Given the description of an element on the screen output the (x, y) to click on. 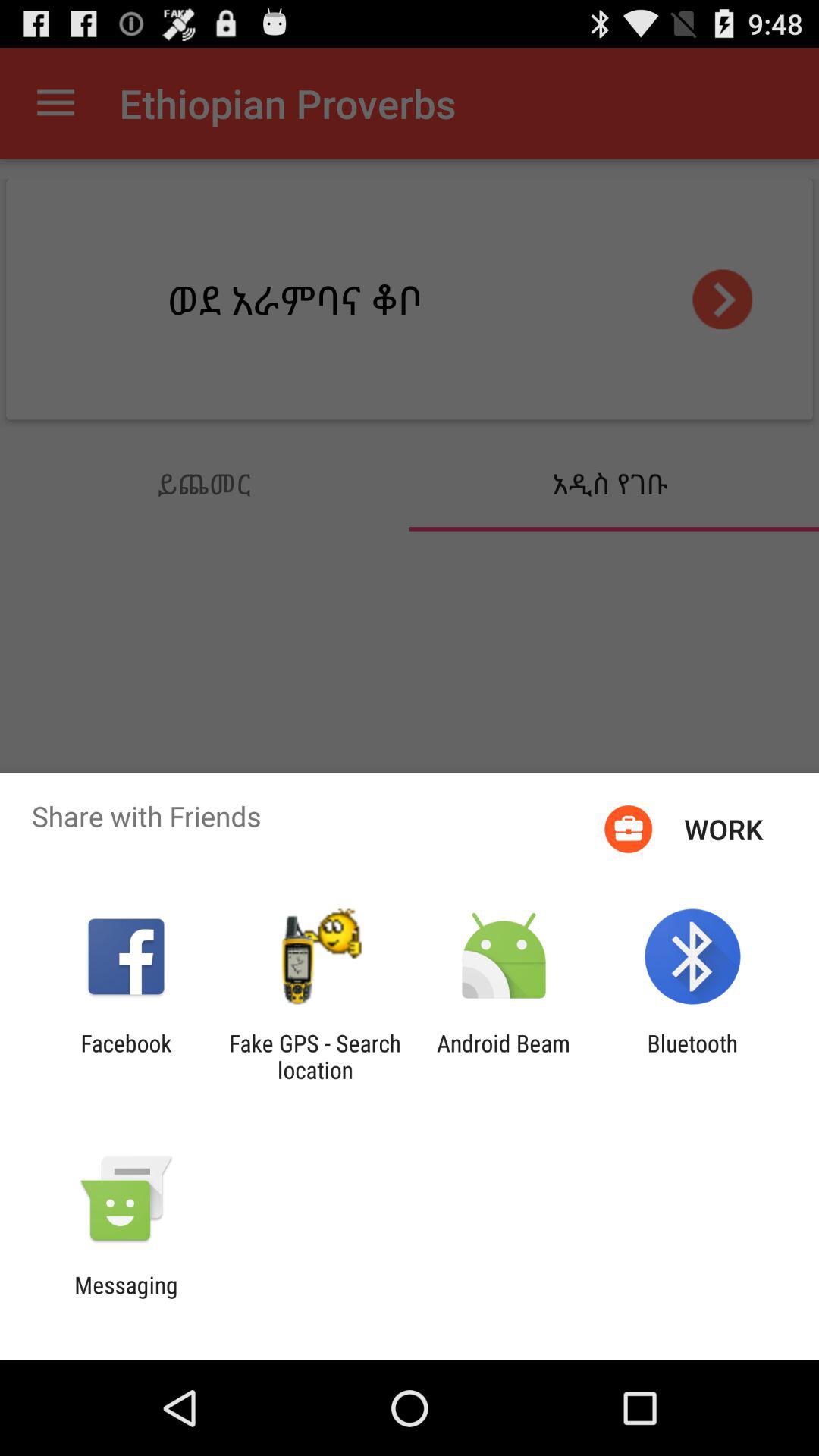
select messaging (126, 1298)
